Given the description of an element on the screen output the (x, y) to click on. 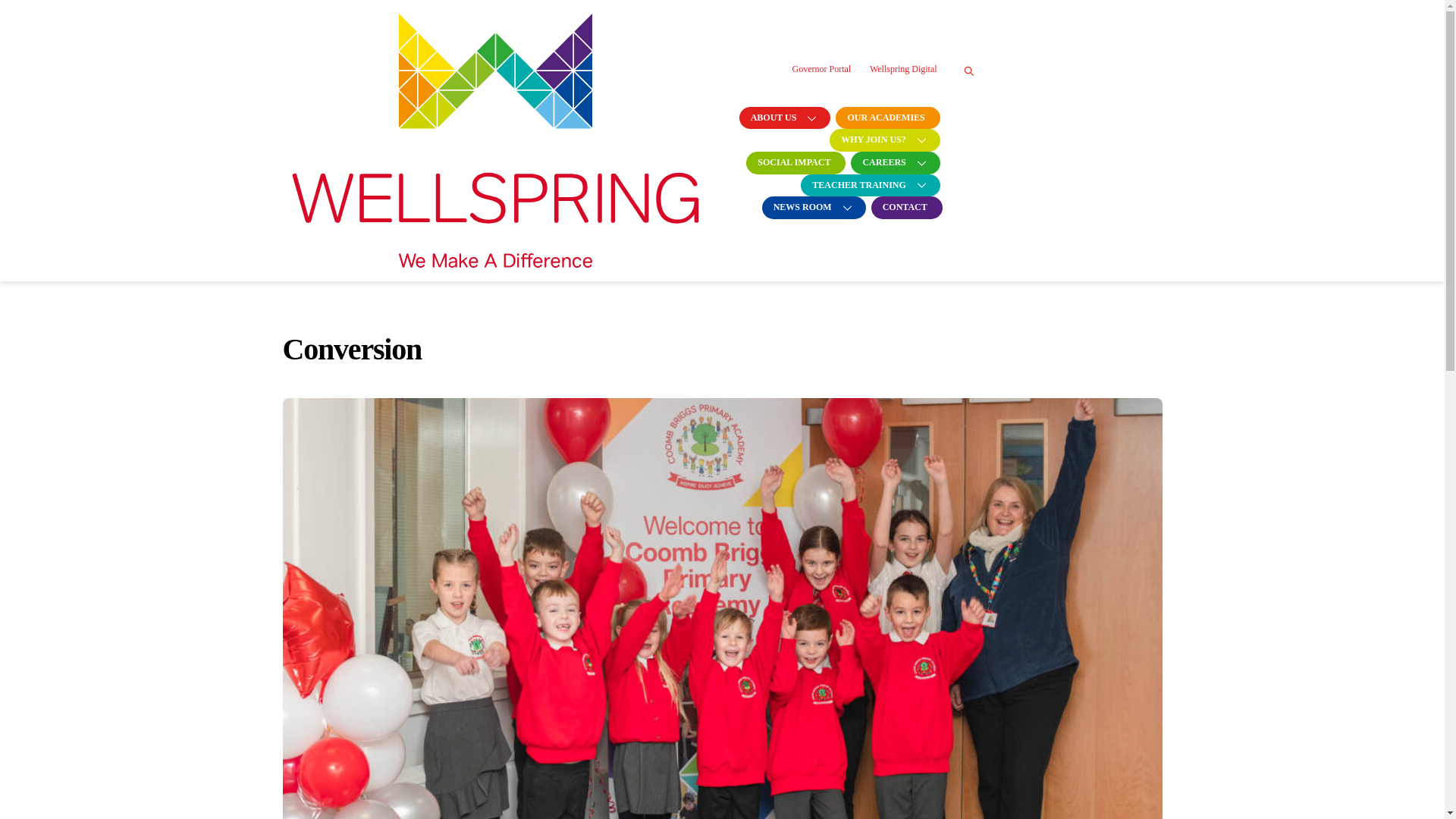
TEACHER TRAINING (868, 185)
ABOUT US (783, 118)
CAREERS (893, 162)
Wellspring Digital (903, 68)
Governor Portal (821, 68)
SOCIAL IMPACT (793, 162)
OUR ACADEMIES (885, 118)
WHY JOIN US? (882, 139)
NEWS ROOM (811, 207)
CONTACT (904, 207)
wellspring-logo-red (494, 140)
